Given the description of an element on the screen output the (x, y) to click on. 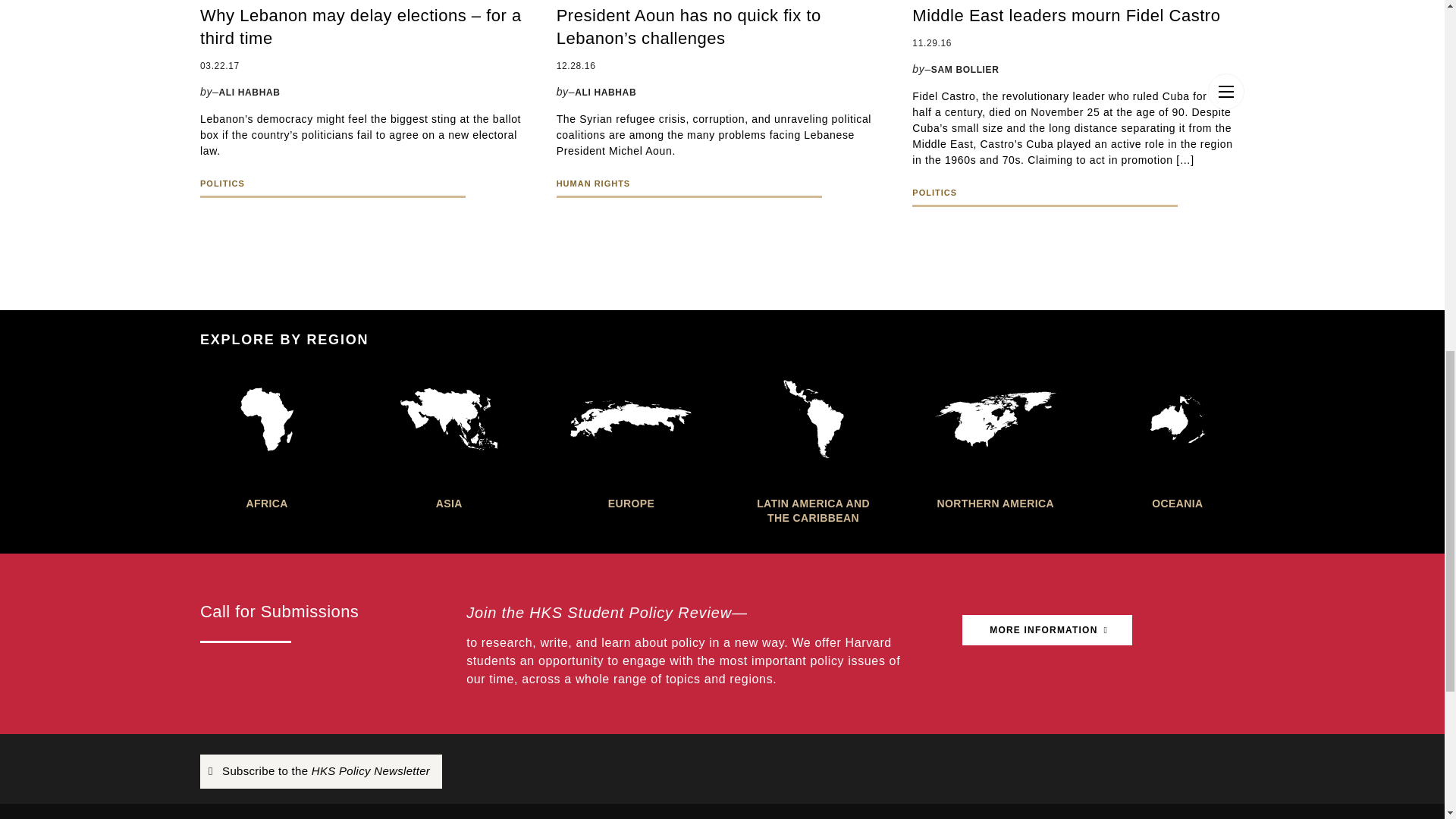
NORTHERN AMERICA (995, 439)
ASIA (448, 439)
AFRICA (266, 439)
Middle East leaders mourn Fidel Castro (1078, 15)
EUROPE (630, 439)
